Given the description of an element on the screen output the (x, y) to click on. 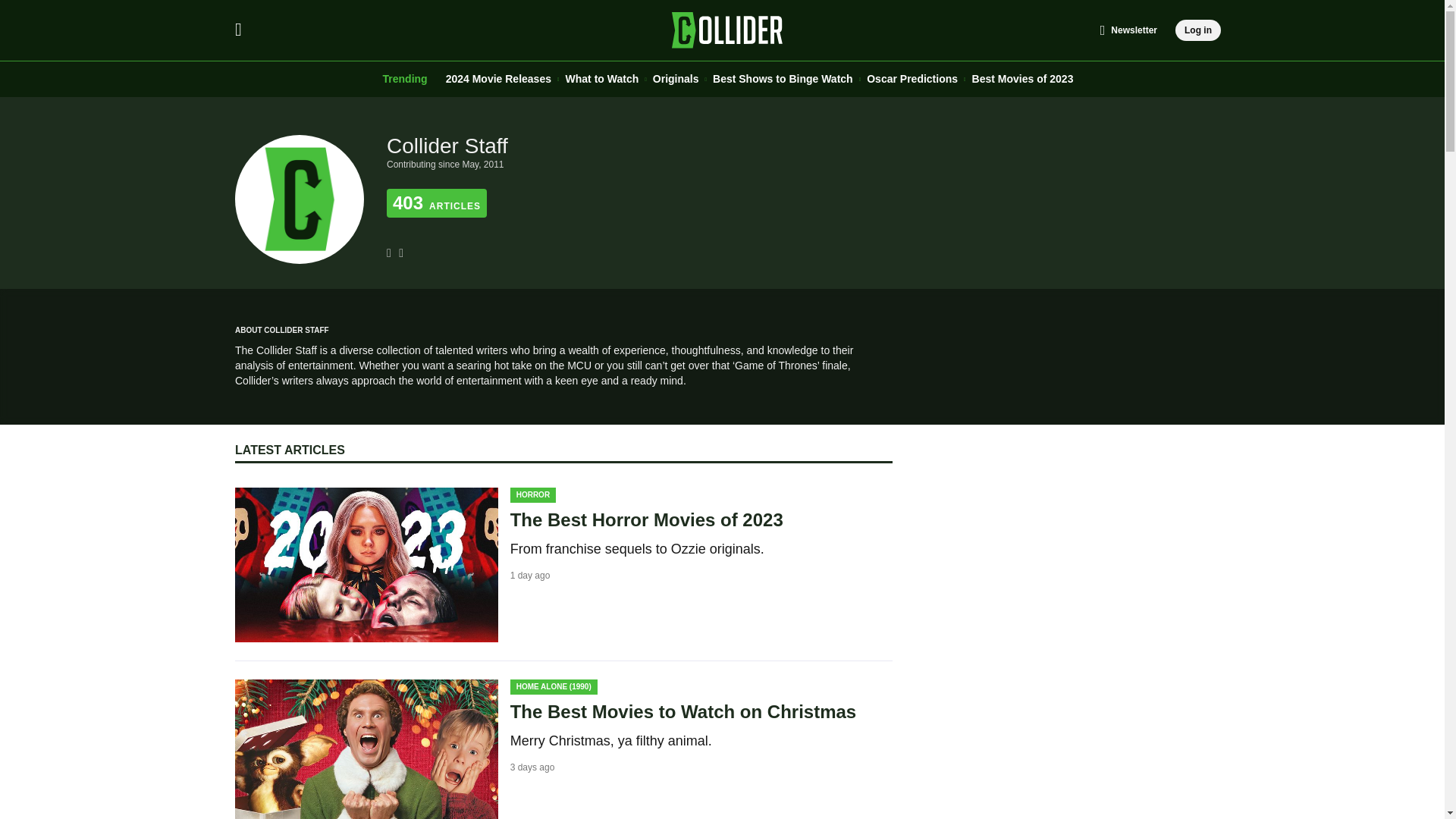
Best Shows to Binge Watch (783, 79)
Oscar Predictions (912, 79)
2024 Movie Releases (498, 79)
Best Movies of 2023 (1023, 79)
Collider (727, 30)
Newsletter (1128, 30)
Originals (675, 79)
What to Watch (602, 79)
